Given the description of an element on the screen output the (x, y) to click on. 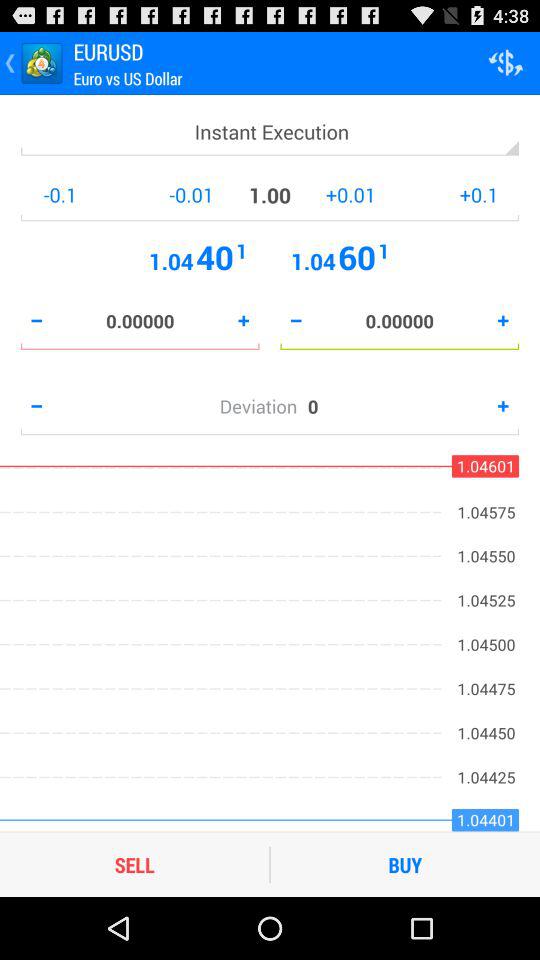
launch the sell item (134, 864)
